Given the description of an element on the screen output the (x, y) to click on. 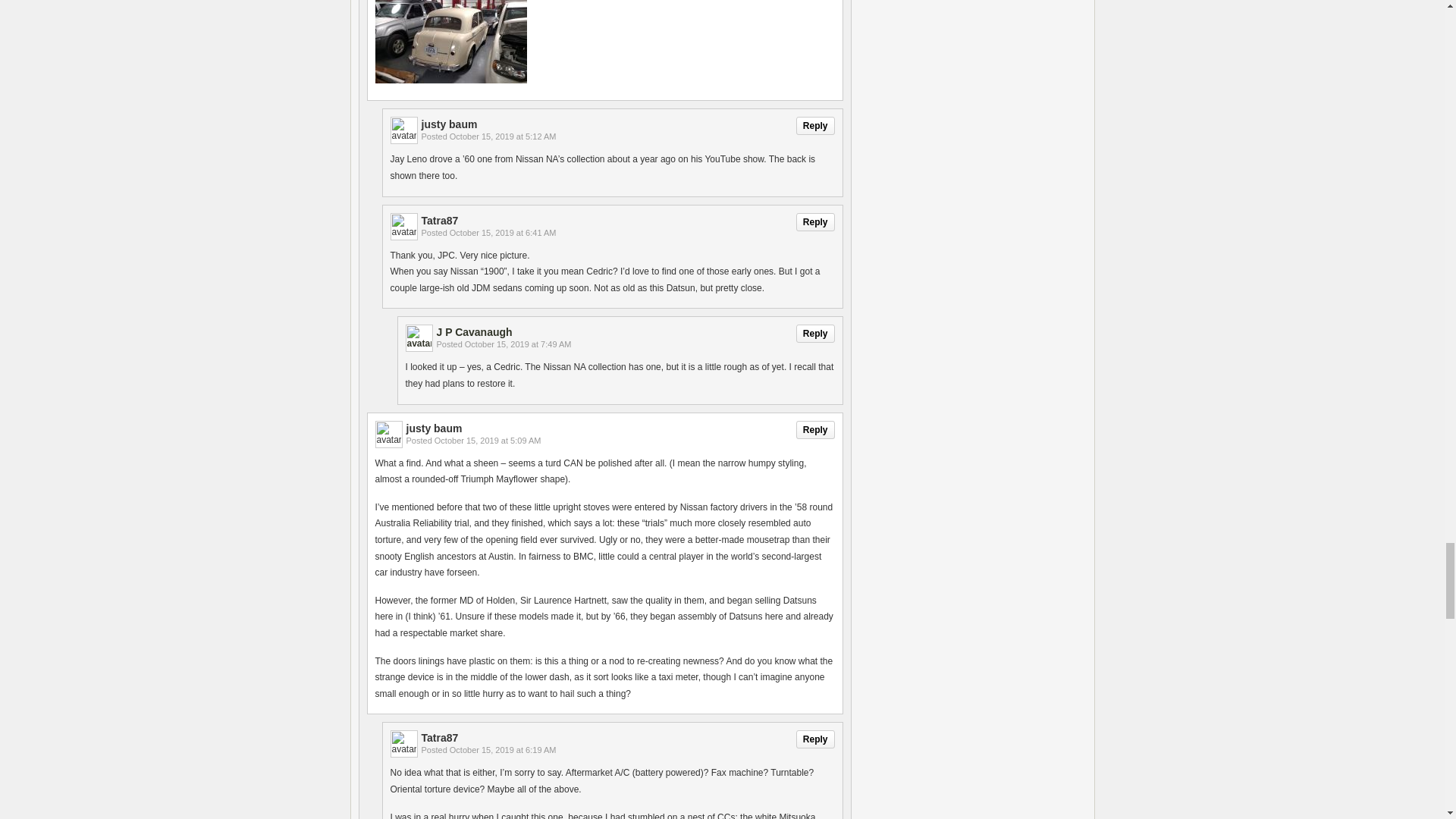
2019-10-15T05:12:24-07:00 (502, 135)
2019-10-15T07:49:02-07:00 (518, 343)
2019-10-15T06:41:51-07:00 (502, 232)
